Given the description of an element on the screen output the (x, y) to click on. 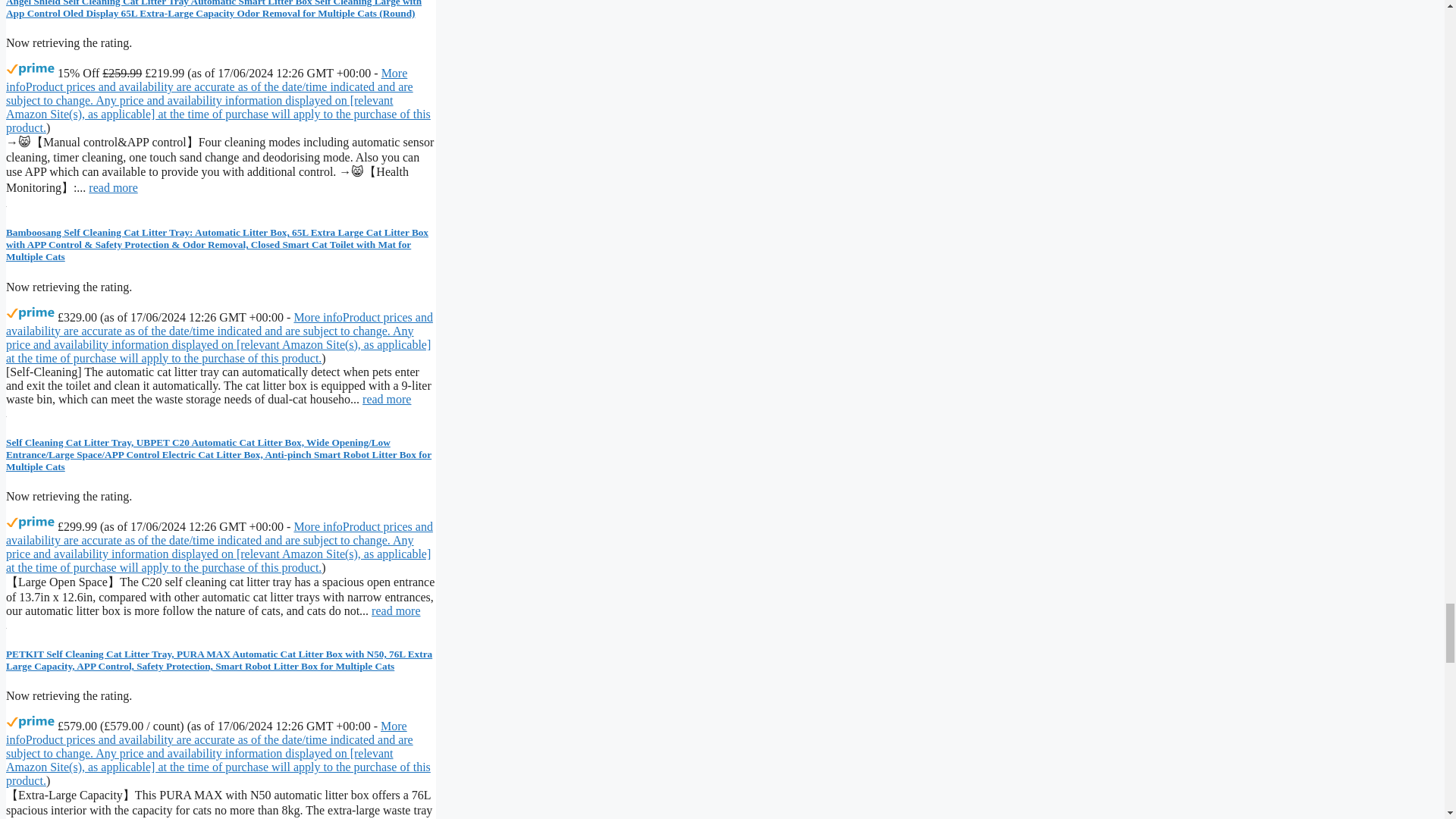
Available for Amazon Prime (30, 69)
Available for Amazon Prime (30, 313)
Available for Amazon Prime (30, 722)
Available for Amazon Prime (30, 522)
